Given the description of an element on the screen output the (x, y) to click on. 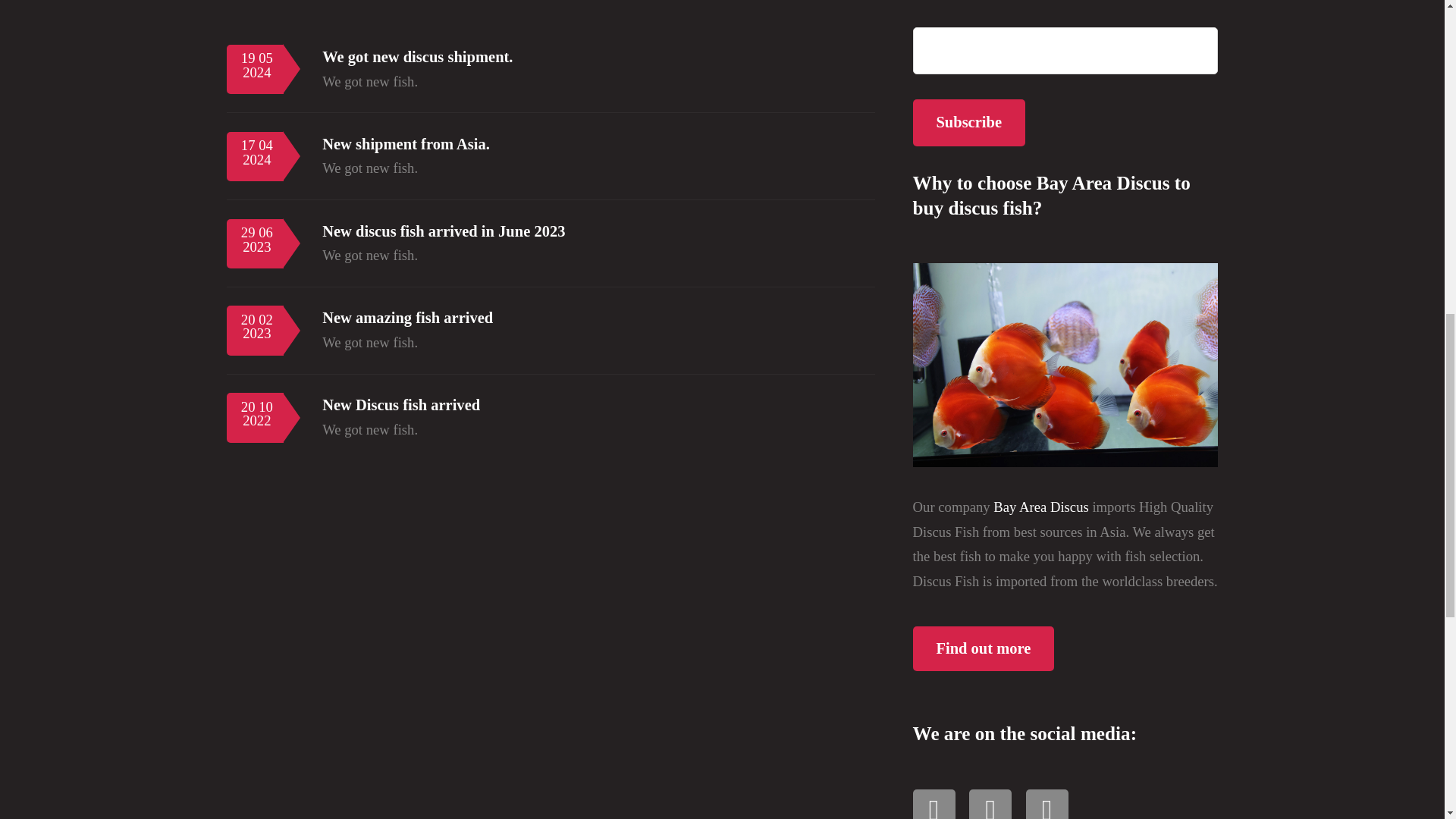
New amazing fish arrived (407, 317)
New discus fish arrived in June 2023 (442, 230)
Subscribe (968, 123)
Find out more (983, 648)
New Discus fish arrived (400, 404)
We got new discus shipment. (416, 56)
Subscribe (968, 123)
New shipment from Asia. (405, 143)
